Given the description of an element on the screen output the (x, y) to click on. 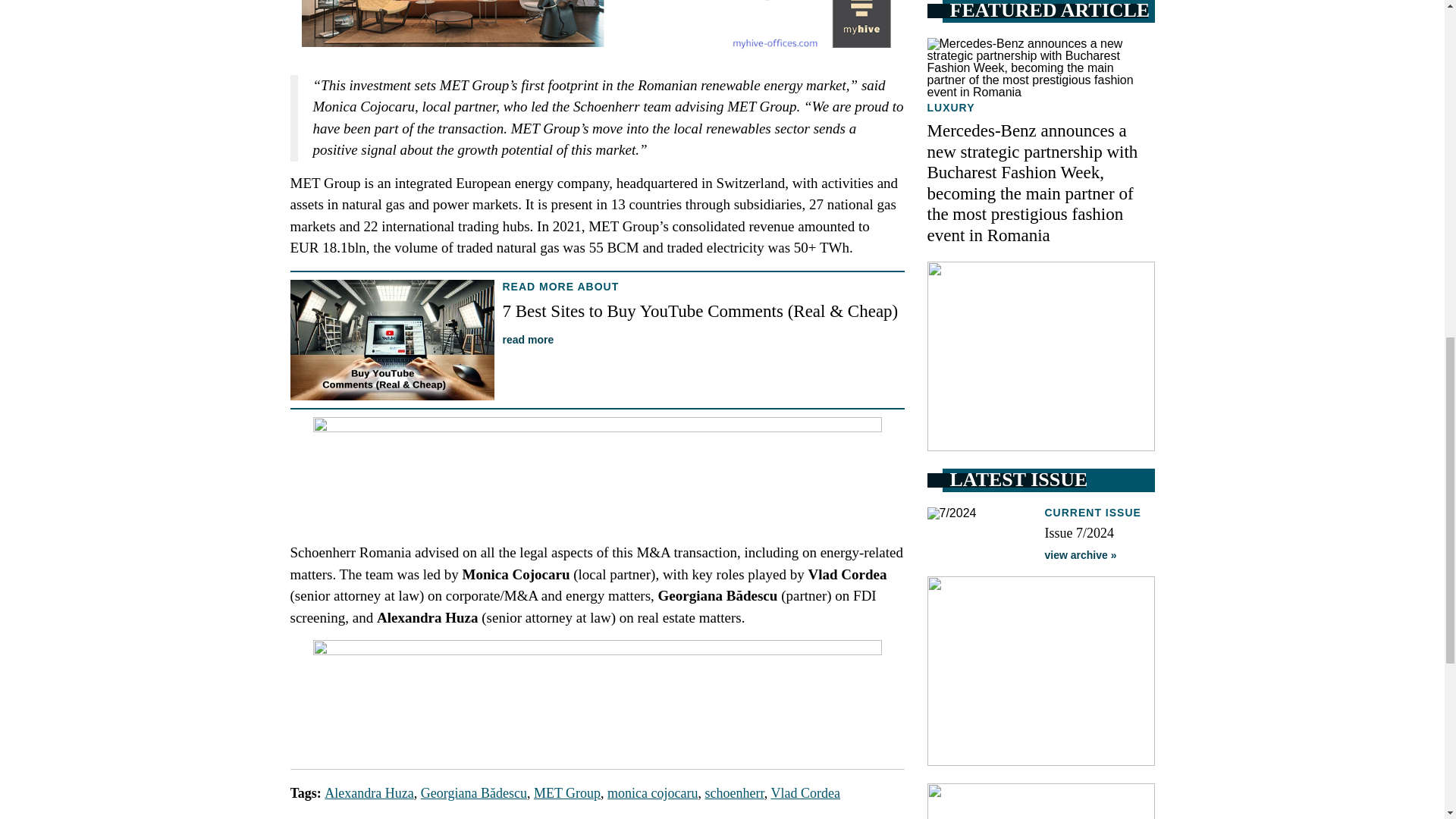
MET Group (566, 792)
monica cojocaru (652, 792)
Vlad Cordea (805, 792)
schoenherr (734, 792)
read more (527, 339)
Alexandra Huza (368, 792)
